Given the description of an element on the screen output the (x, y) to click on. 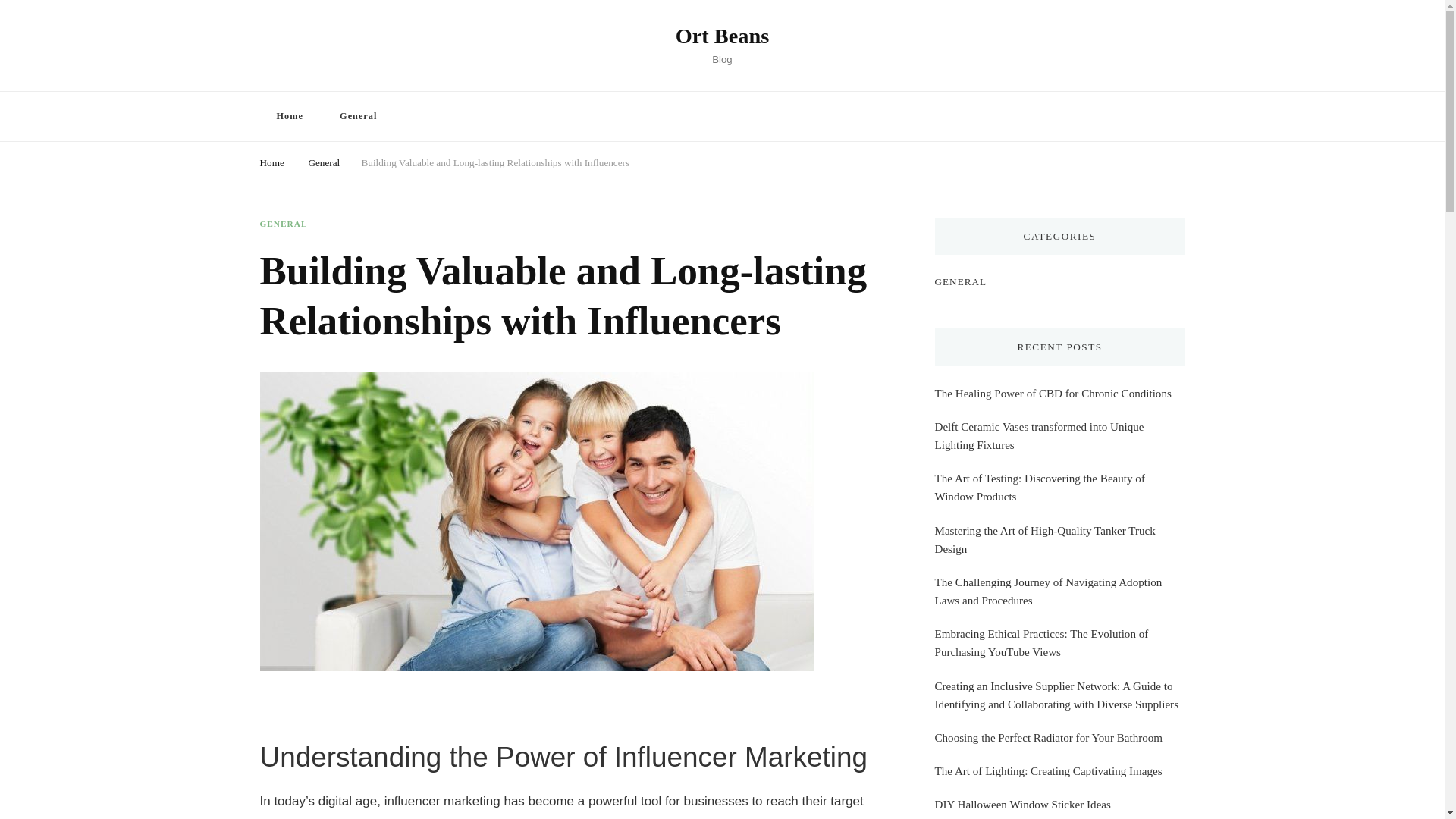
GENERAL (283, 223)
The Healing Power of CBD for Chronic Conditions (1052, 393)
General (358, 115)
General (323, 161)
GENERAL (960, 281)
Ort Beans (722, 35)
Mastering the Art of High-Quality Tanker Truck Design (1059, 539)
Home (288, 115)
Home (271, 161)
